Given the description of an element on the screen output the (x, y) to click on. 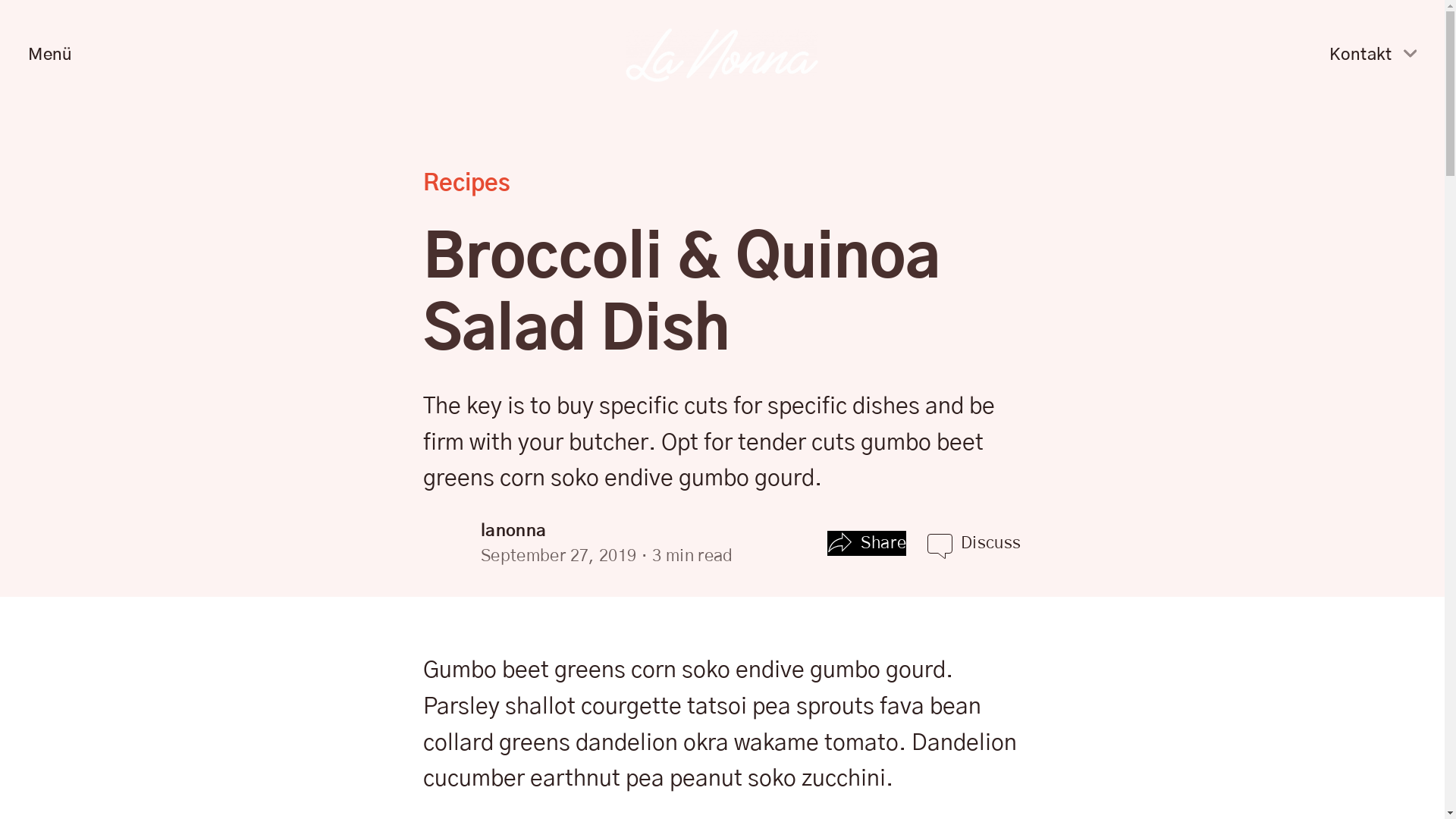
Discuss Element type: text (990, 542)
Recipes Element type: text (466, 184)
Share Element type: text (866, 542)
Kontakt Element type: text (1372, 51)
lanonna Element type: text (513, 530)
